Given the description of an element on the screen output the (x, y) to click on. 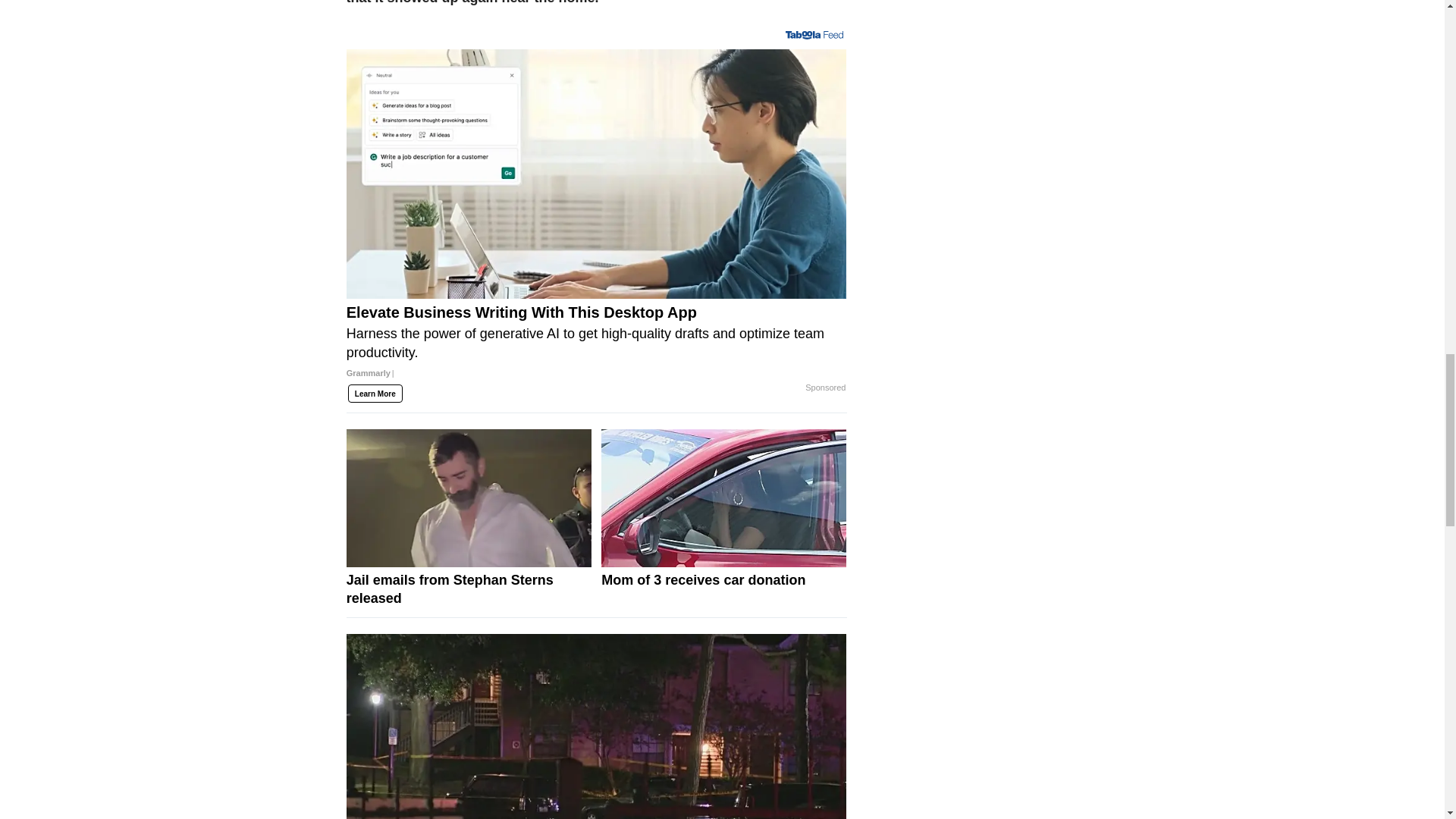
Elevate Business Writing With This Desktop App (596, 347)
